Given the description of an element on the screen output the (x, y) to click on. 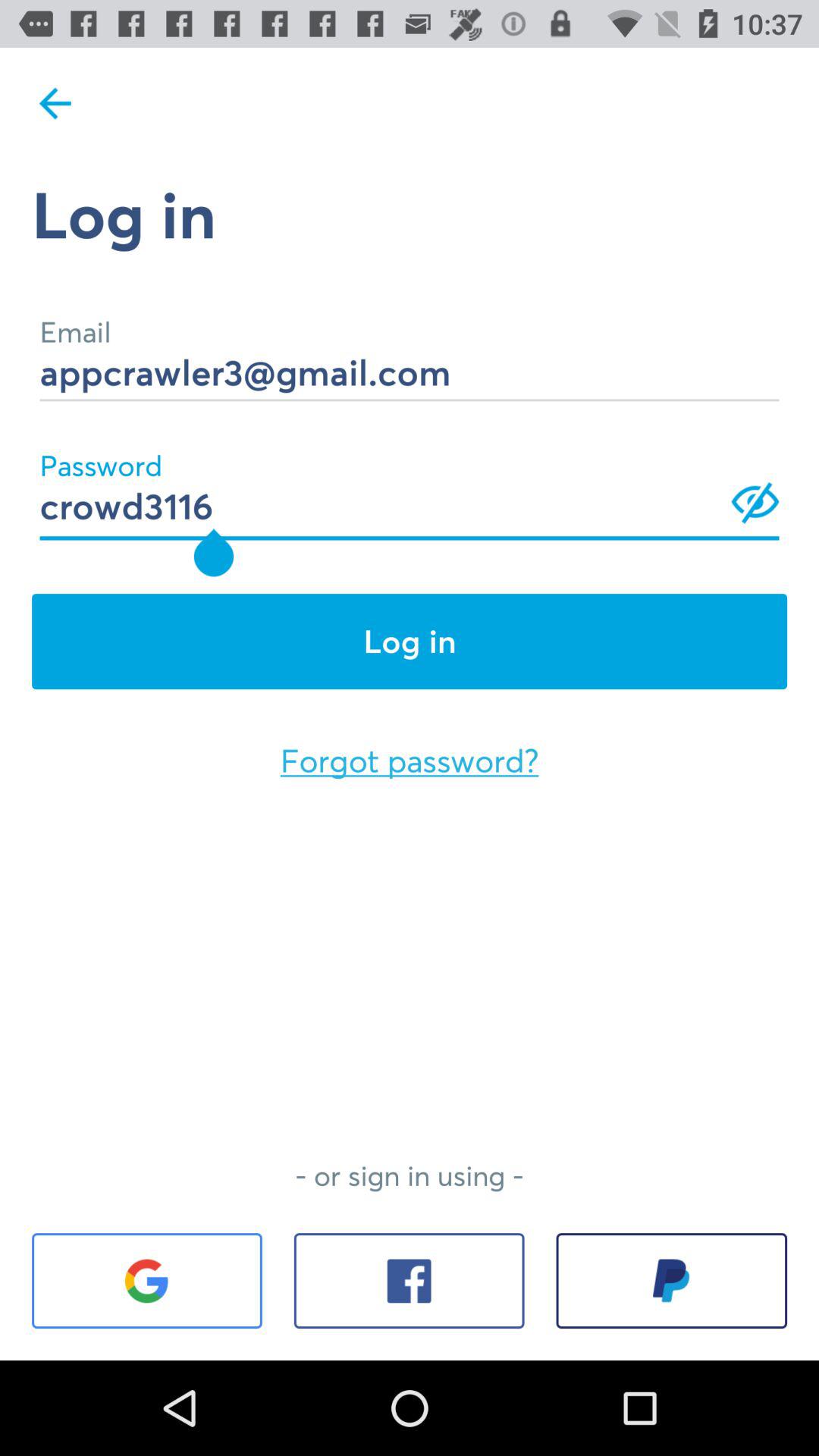
turn on the icon below the or sign in item (409, 1280)
